Given the description of an element on the screen output the (x, y) to click on. 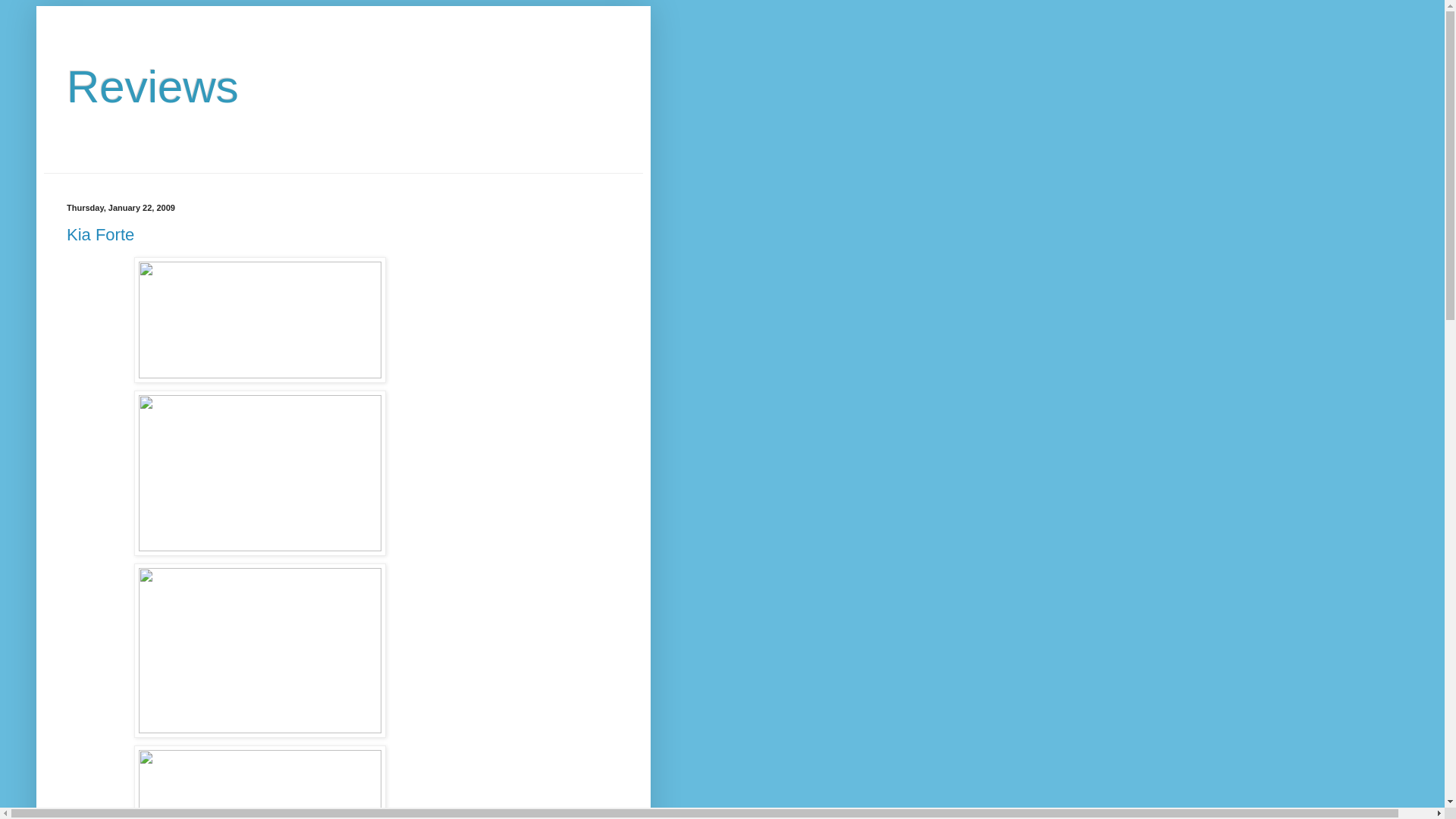
Reviews (152, 86)
Kia Forte (99, 234)
